Given the description of an element on the screen output the (x, y) to click on. 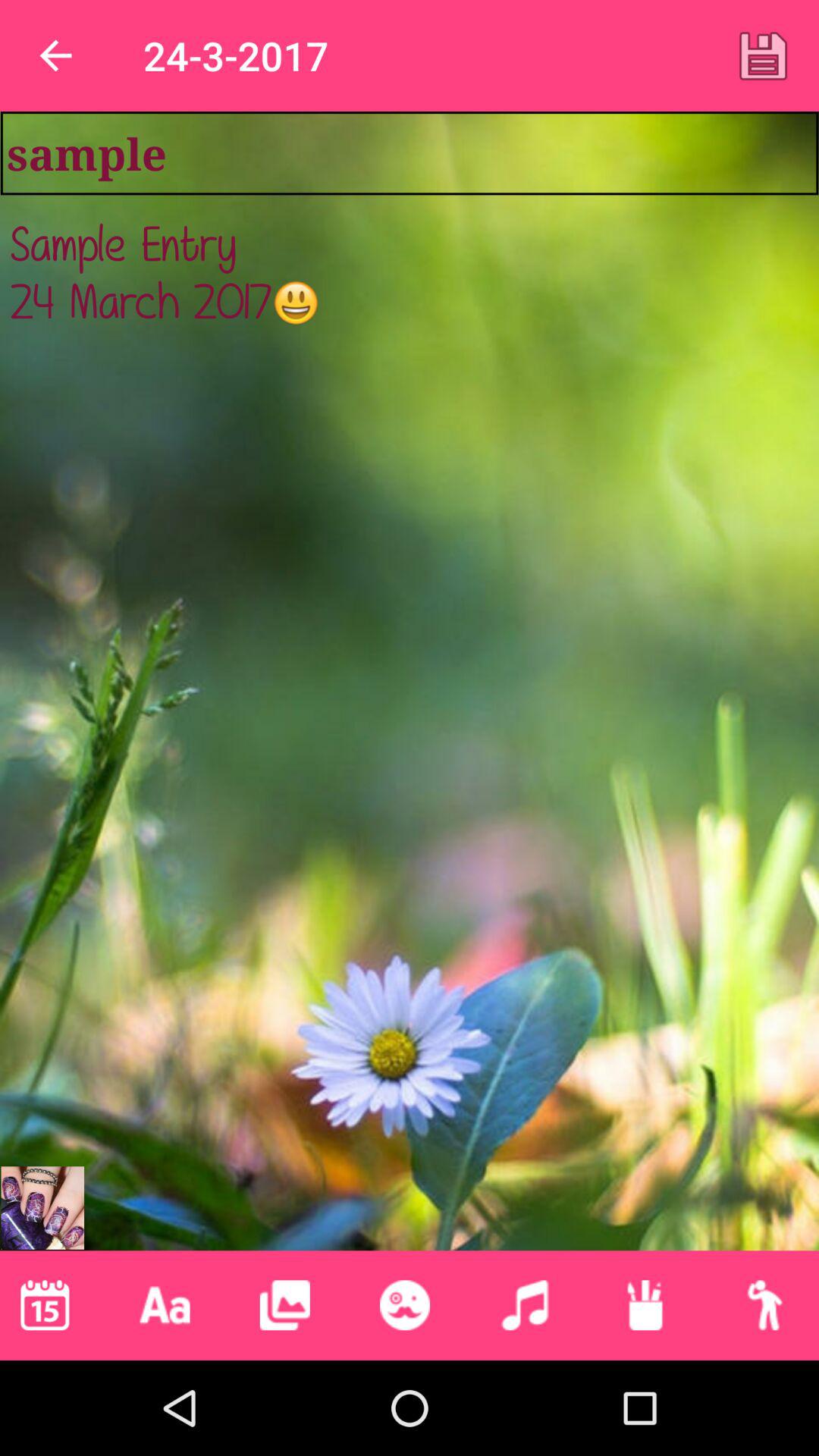
click icon below the sample entry 24 item (404, 1305)
